Given the description of an element on the screen output the (x, y) to click on. 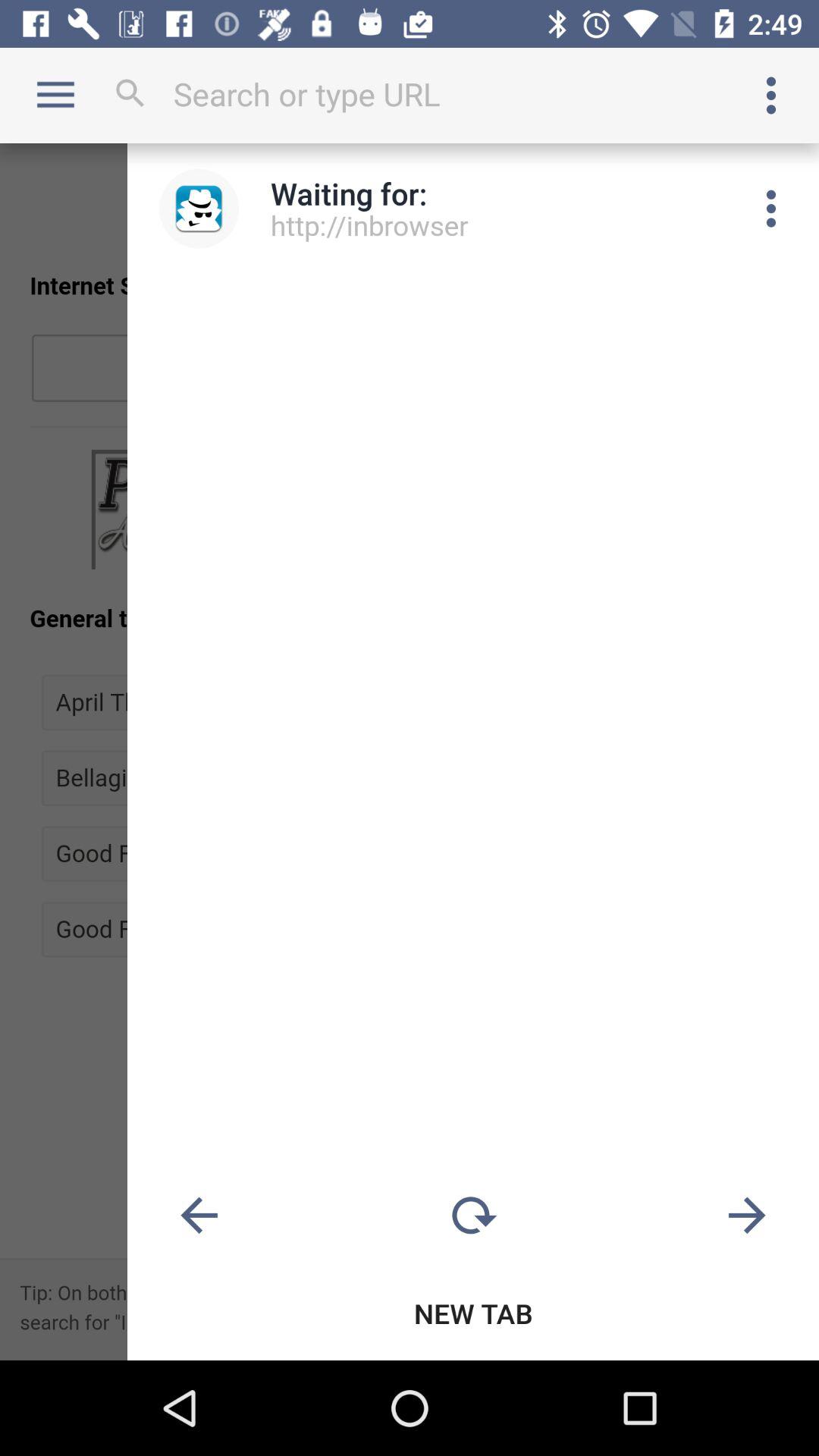
go to next tab (747, 1216)
